Given the description of an element on the screen output the (x, y) to click on. 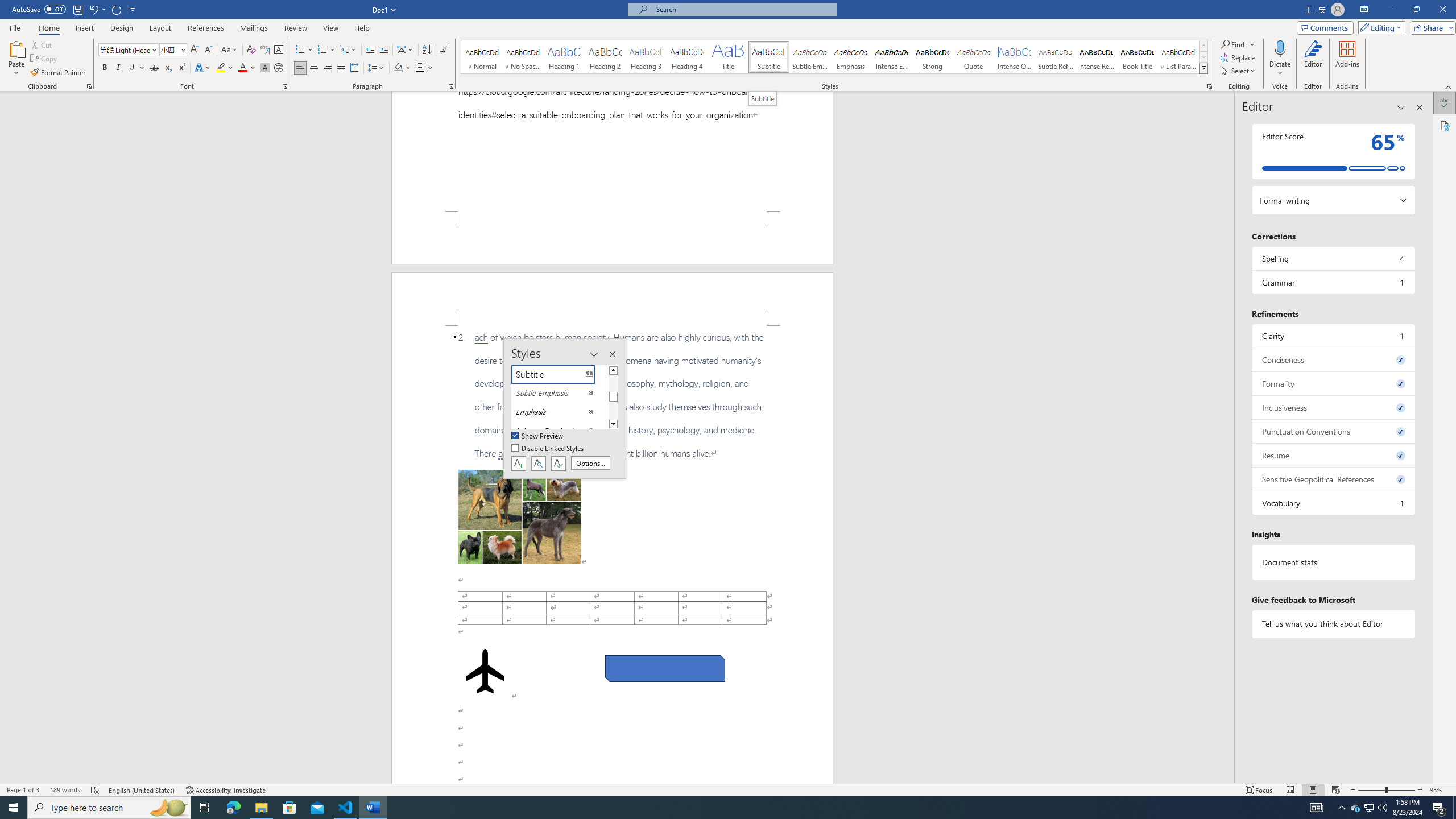
Restore Down (1416, 9)
Font Color Automatic (241, 67)
Font (124, 49)
Borders (419, 67)
Bullets (300, 49)
Vocabulary, 1 issue. Press space or enter to review items. (1333, 502)
Subtle Reference (1055, 56)
Read Mode (1290, 790)
Subtitle (768, 56)
Bullets (304, 49)
Align Right (327, 67)
Class: NetUIButton (558, 463)
Superscript (180, 67)
Font Size (169, 49)
